Given the description of an element on the screen output the (x, y) to click on. 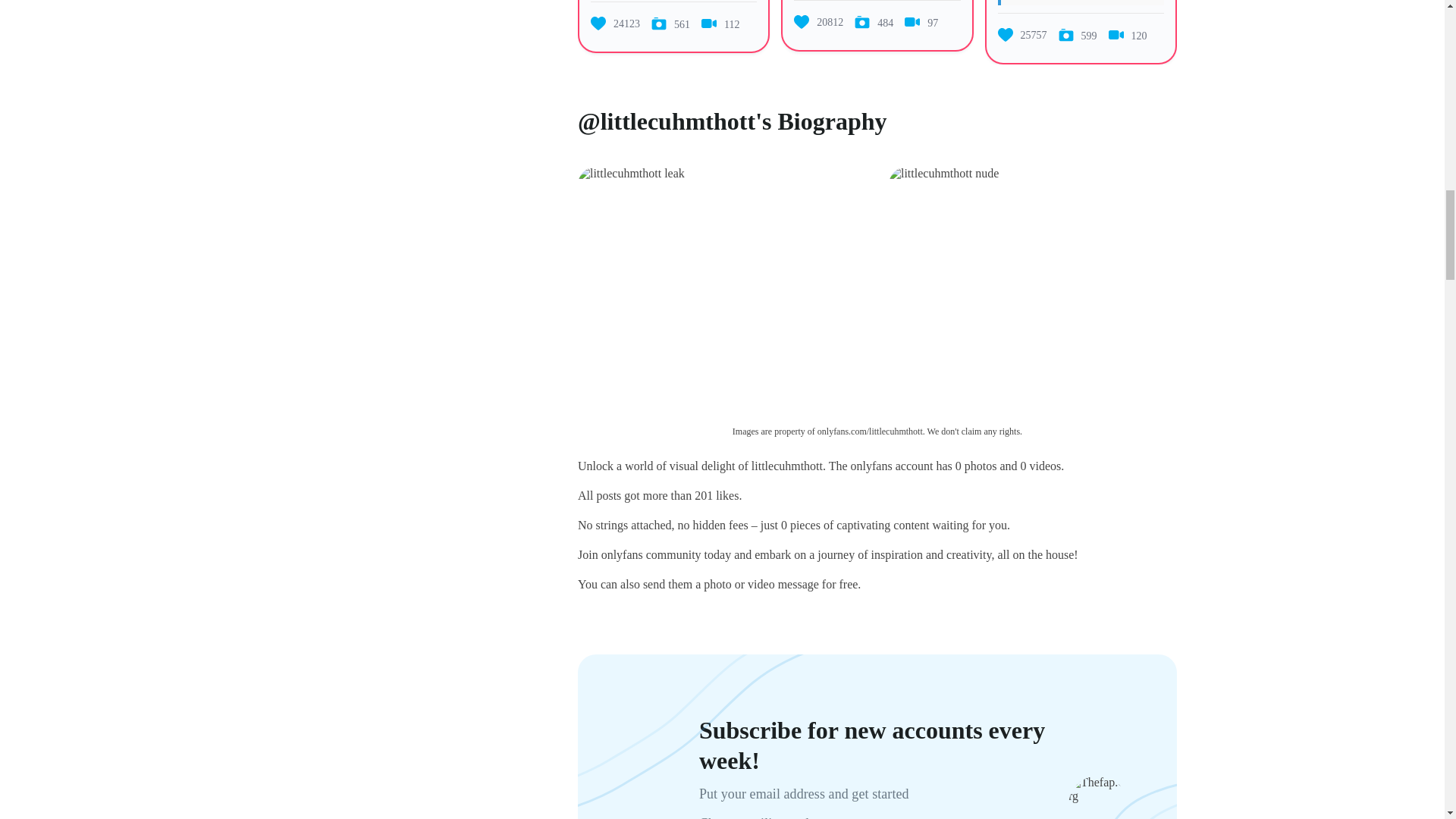
Thefap.Org (1097, 789)
littlecuhmthott leak (631, 173)
littlecuhmthott nude (943, 173)
